Given the description of an element on the screen output the (x, y) to click on. 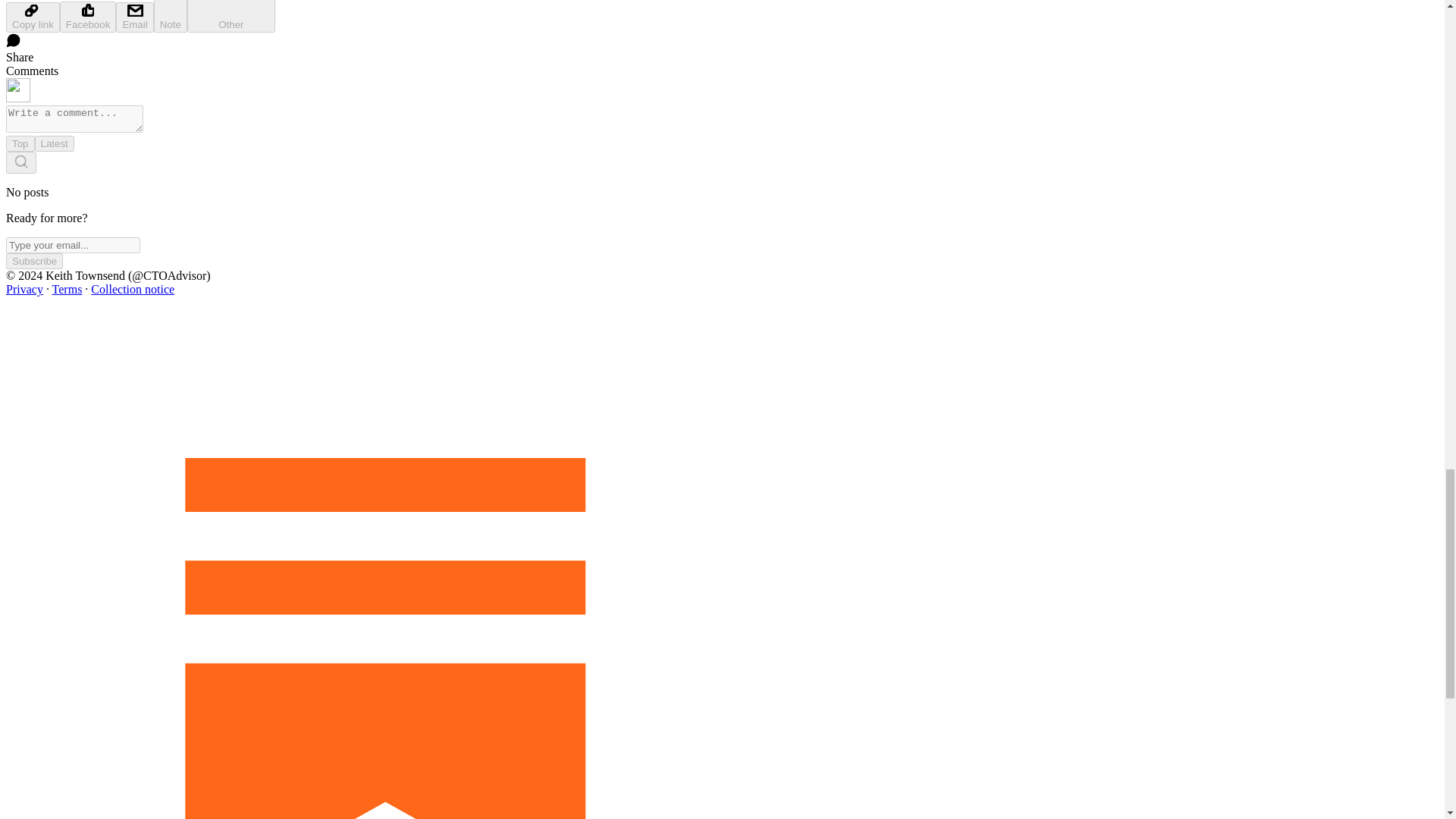
Facebook (87, 16)
Other (231, 16)
Copy link (32, 17)
Email (134, 17)
Note (170, 16)
